Given the description of an element on the screen output the (x, y) to click on. 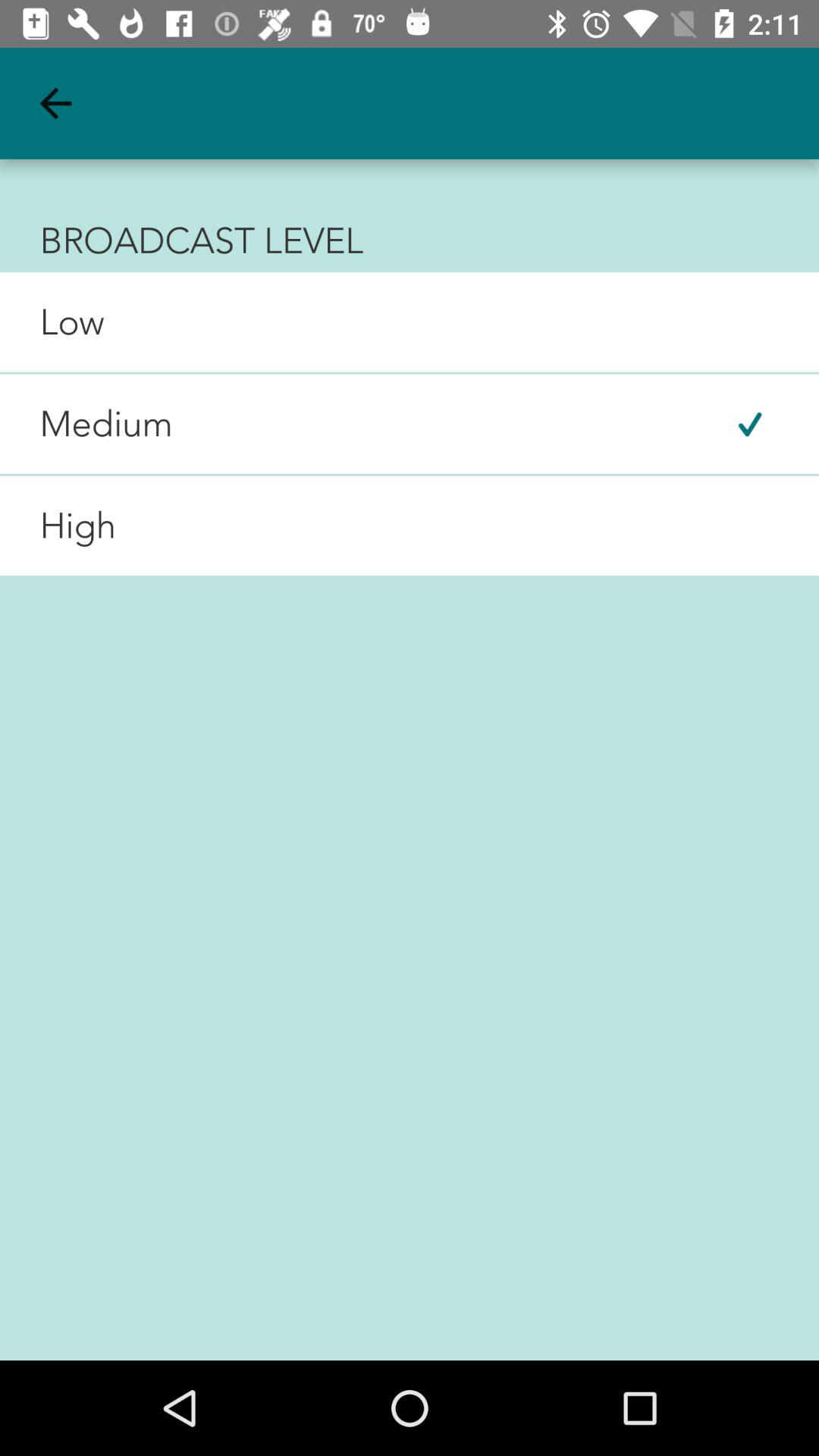
choose the item next to the medium (749, 423)
